Given the description of an element on the screen output the (x, y) to click on. 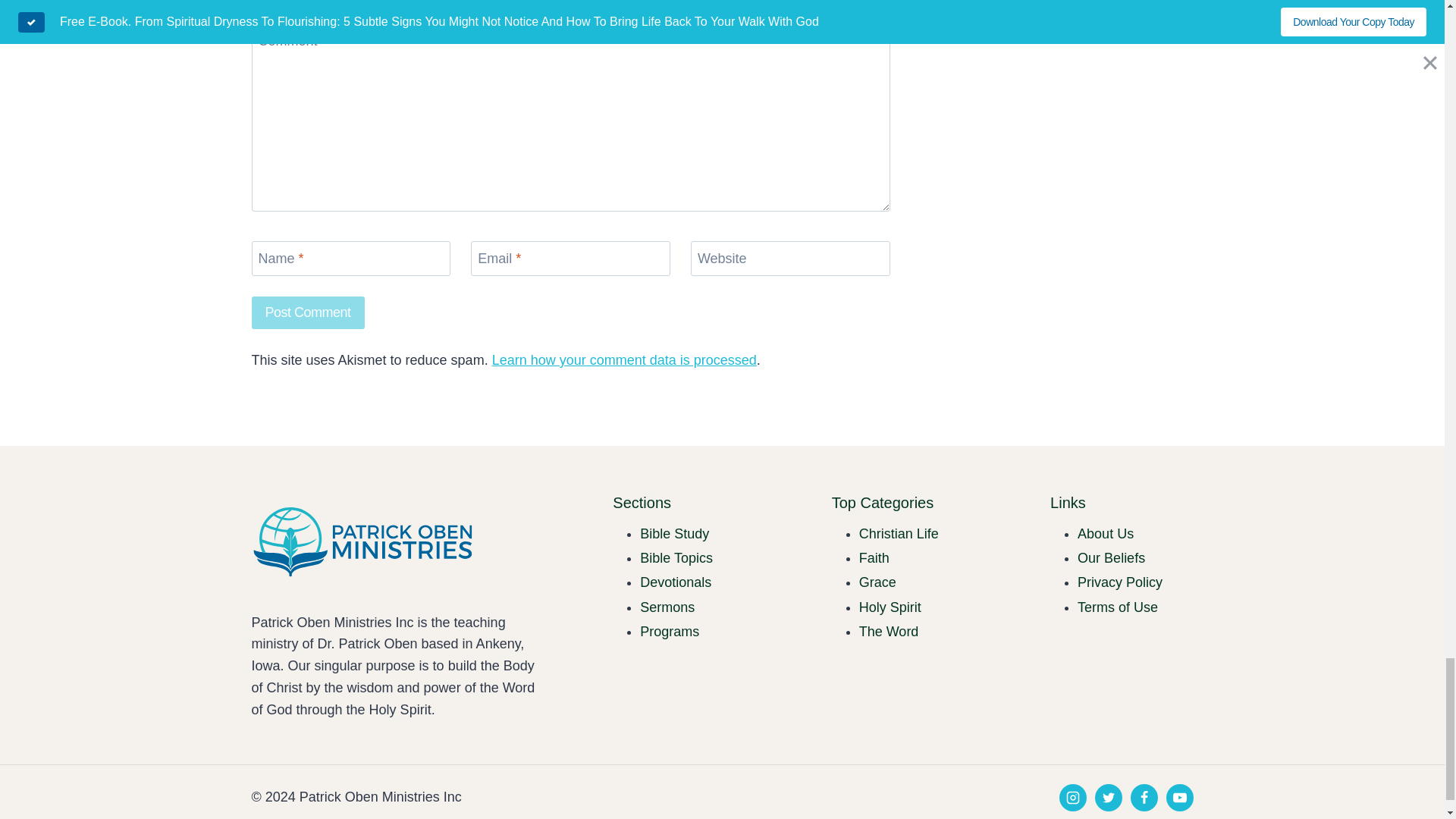
Post Comment (308, 312)
